Given the description of an element on the screen output the (x, y) to click on. 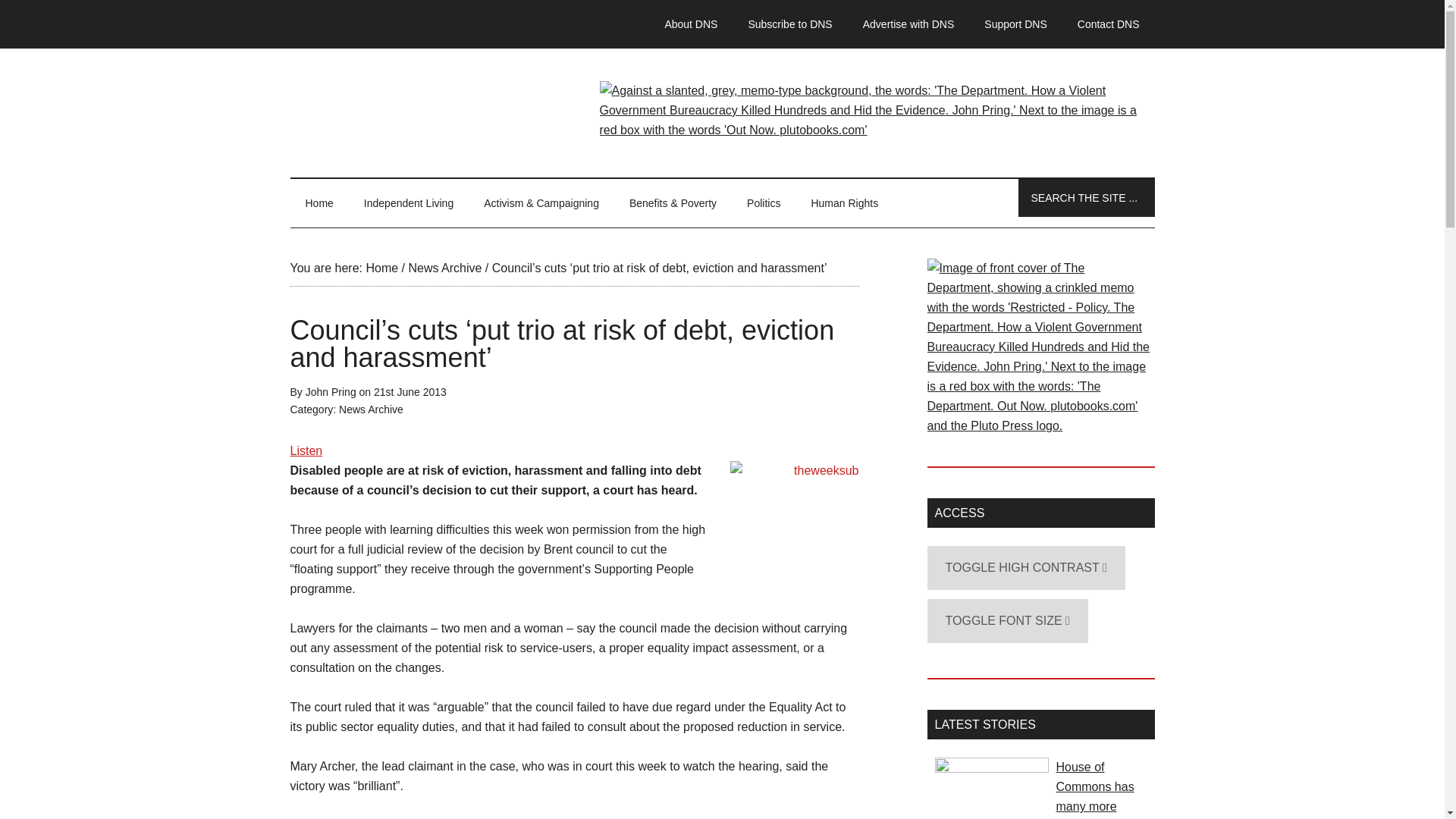
Listen (305, 450)
Disability News Service (721, 112)
About DNS (690, 24)
News Archive (444, 267)
Home (318, 203)
Support DNS (1015, 24)
News Archive (371, 409)
Home (381, 267)
Contact DNS (1108, 24)
